Given the description of an element on the screen output the (x, y) to click on. 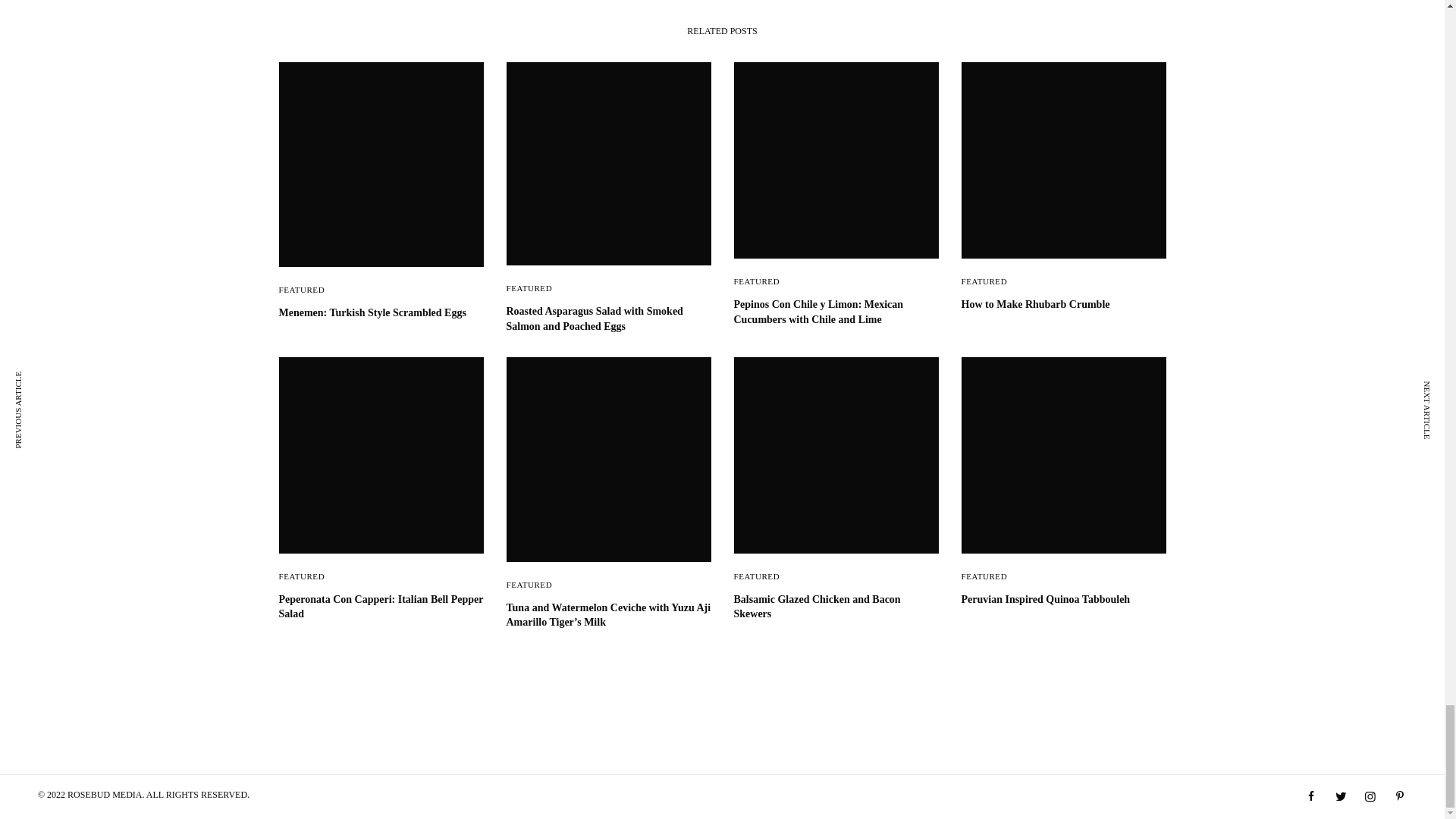
How to Make Rhubarb Crumble (1063, 304)
Peruvian Inspired Quinoa Tabbouleh (1063, 599)
Roasted Asparagus Salad with Smoked Salmon and Poached Eggs (608, 318)
Menemen: Turkish Style Scrambled Eggs (381, 313)
Peperonata Con Capperi: Italian Bell Pepper Salad (381, 606)
Balsamic Glazed Chicken and Bacon Skewers (836, 606)
